Given the description of an element on the screen output the (x, y) to click on. 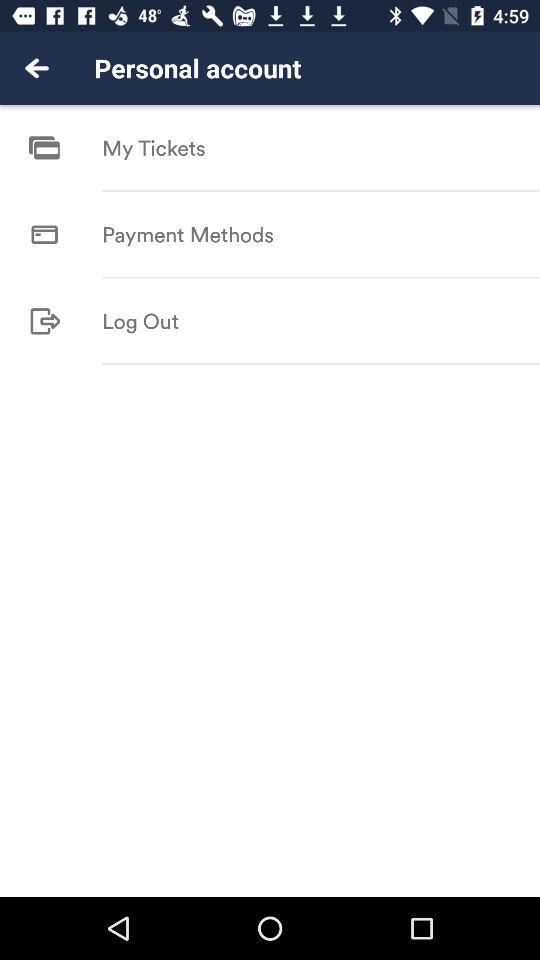
press item below log out (321, 363)
